Given the description of an element on the screen output the (x, y) to click on. 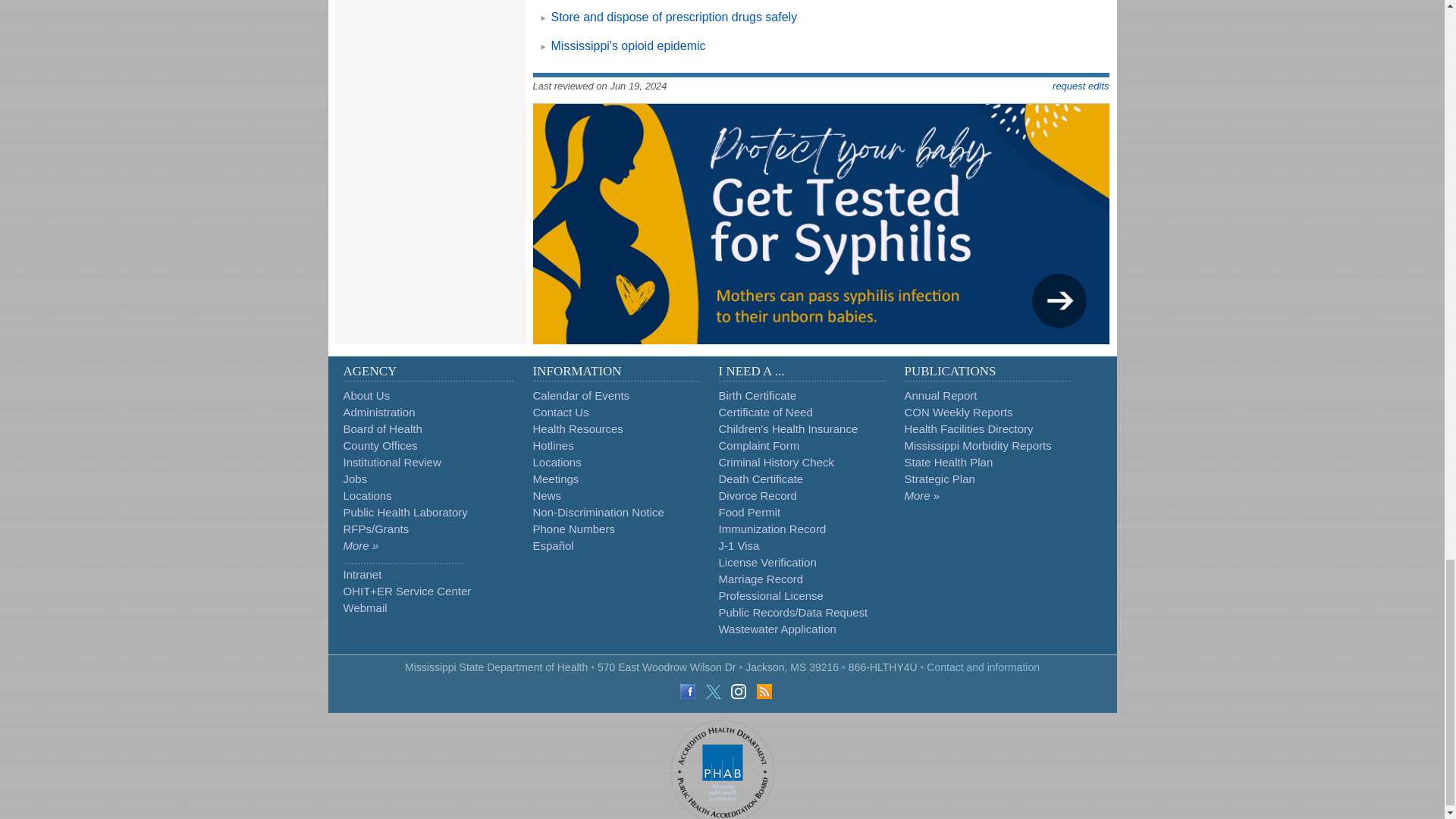
Request an update or correction to this web page (1080, 85)
Store and dispose of prescription drugs safely (673, 16)
